Given the description of an element on the screen output the (x, y) to click on. 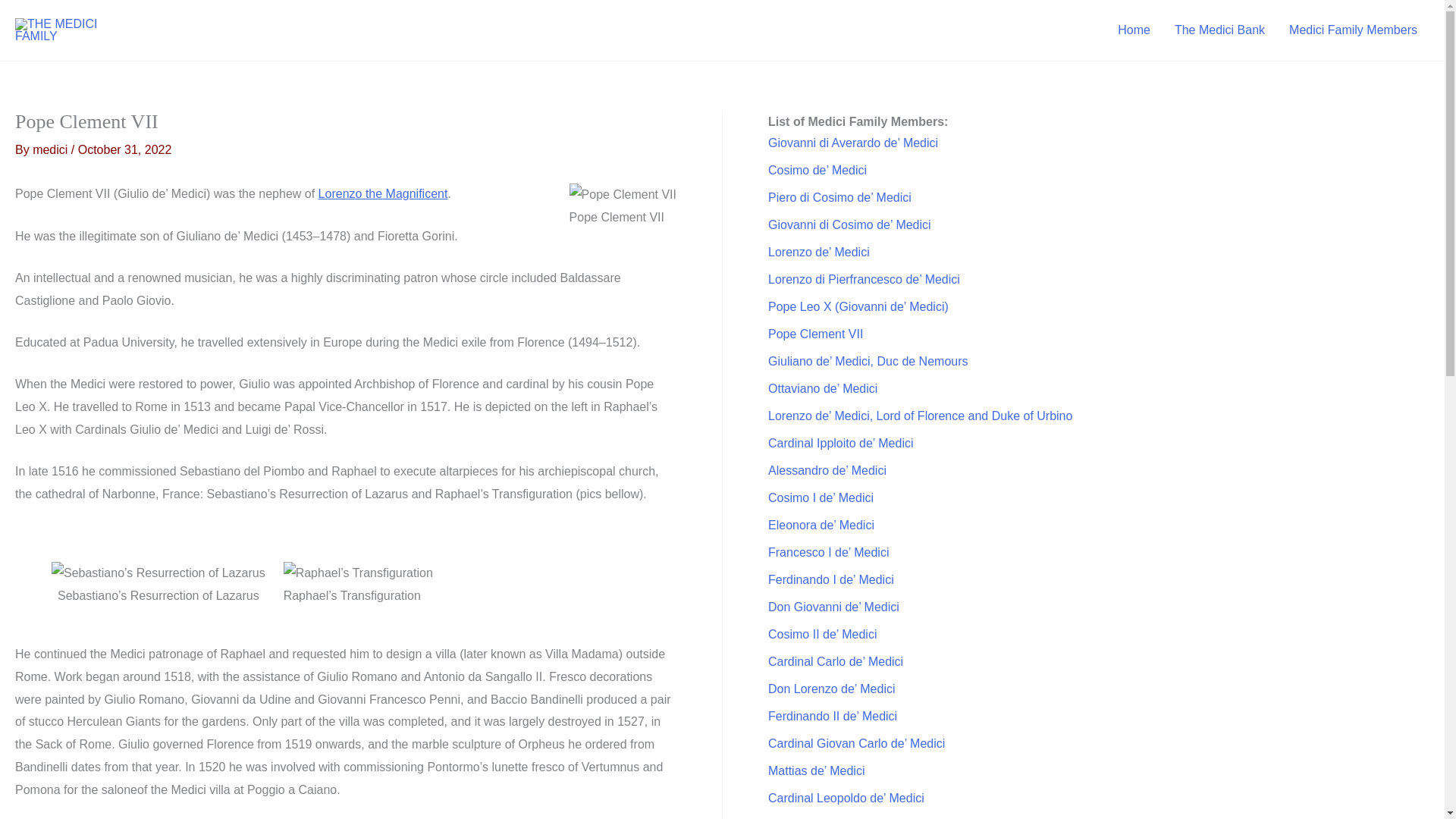
Home (1133, 30)
Pope Clement VII (815, 333)
The Medici Bank (1218, 30)
View all posts by medici (51, 149)
medici (51, 149)
Medici Family Members (1352, 30)
Lorenzo the Magnificent (383, 193)
The Members Of The Medici Family  (1352, 30)
Medici Family (1133, 30)
